Given the description of an element on the screen output the (x, y) to click on. 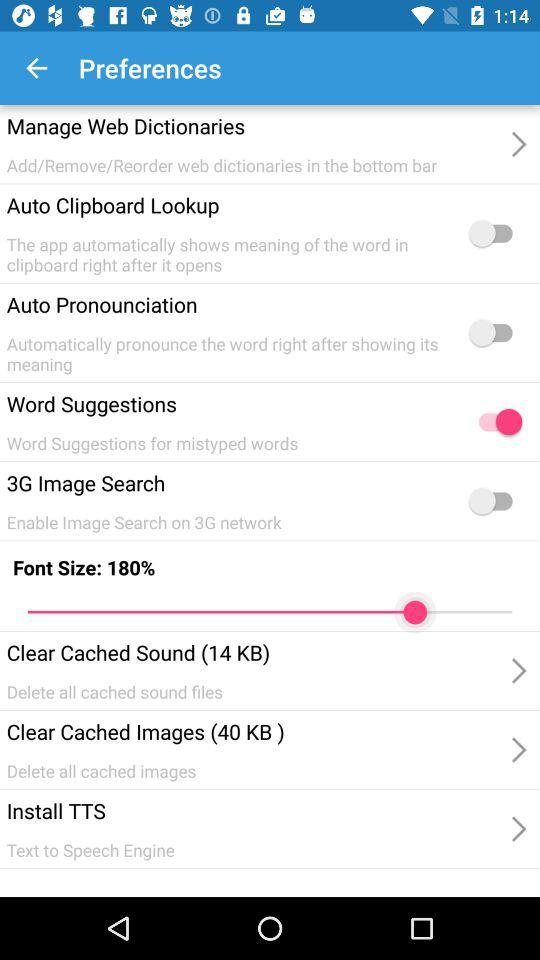
toggle suggestions (495, 421)
